Given the description of an element on the screen output the (x, y) to click on. 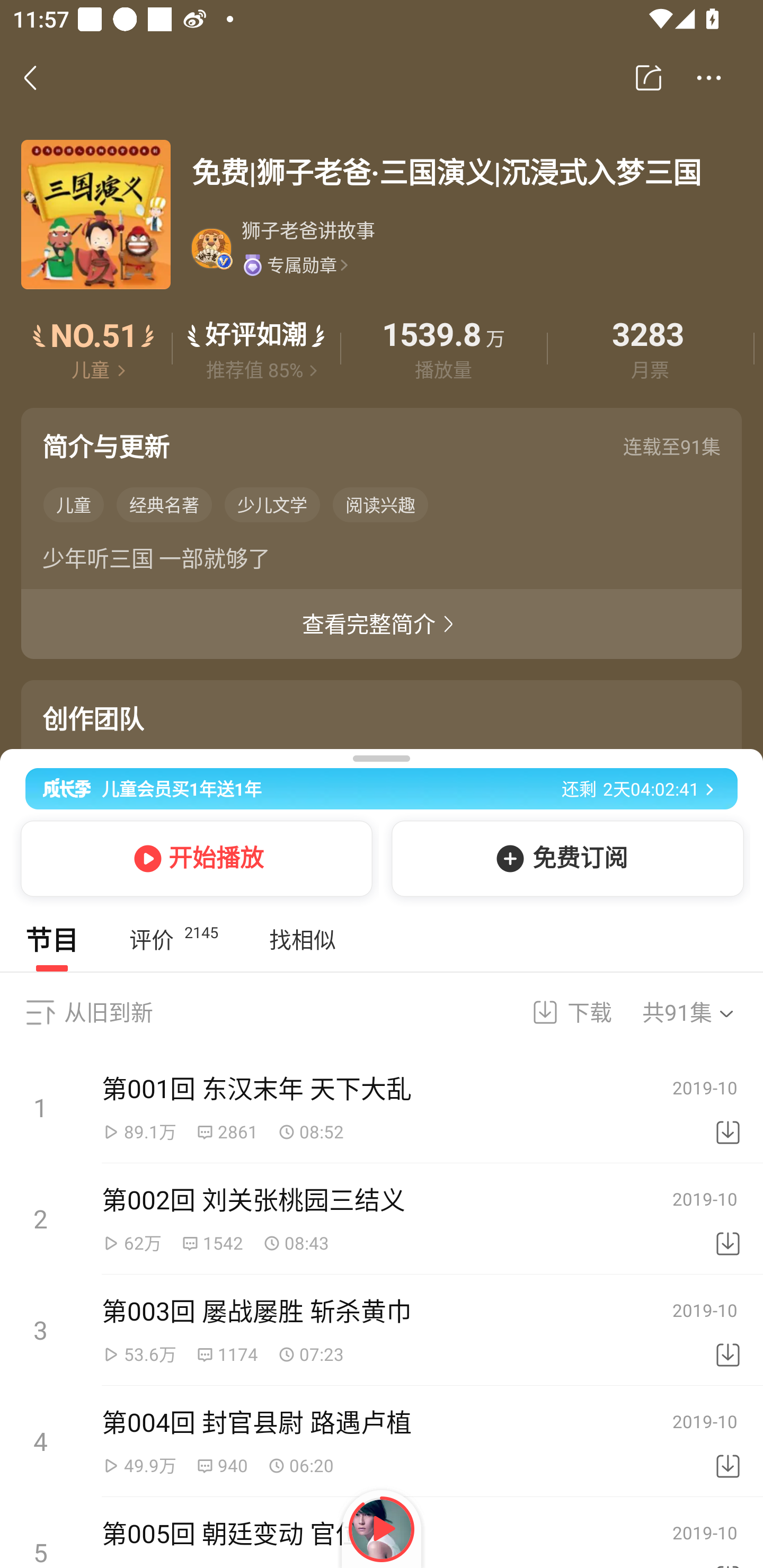
返回 (40, 77)
分享 (648, 78)
更多 (709, 78)
免费|狮子老爸·三国演义|沉浸式入梦三国 (466, 171)
狮子老爸讲故事 专属勋章 (465, 248)
专属勋章 (294, 263)
排行榜 (93, 348)
评价 (255, 348)
儿童 (73, 504)
经典名著 (164, 504)
少儿文学 (271, 504)
阅读兴趣 (380, 504)
少年听三国 一部就够了 (381, 561)
查看完整简介 (381, 623)
儿童会员买1年送1年 还剩 2天 04 : 02 : 41 (381, 785)
开始播放 (193, 858)
免费订阅 (564, 858)
节目 (51, 939)
评价  2145 (173, 939)
找相似 (302, 939)
排序，从旧到新 (40, 1012)
从旧到新 (108, 1012)
下载 (559, 1012)
共91集 选集，共91集 (700, 1012)
1 第001回 东汉末年 天下大乱 2019-10 89.1万 2861 08:52 下载 (381, 1107)
下载 (728, 1108)
2 第002回 刘关张桃园三结义 2019-10 62万 1542 08:43 下载 (381, 1218)
下载 (728, 1218)
3 第003回 屡战屡胜 斩杀黄巾 2019-10 53.6万 1174 07:23 下载 (381, 1330)
下载 (728, 1330)
4 第004回 封官县尉 路遇卢植 2019-10 49.9万 940 06:20 下载 (381, 1441)
下载 (728, 1441)
5 第005回 朝廷变动 官位不保 2019-10 46.6万 793 06:00 下载 (381, 1532)
继续播放Alpha-橘子海OrangeOcean (381, 1529)
